Given the description of an element on the screen output the (x, y) to click on. 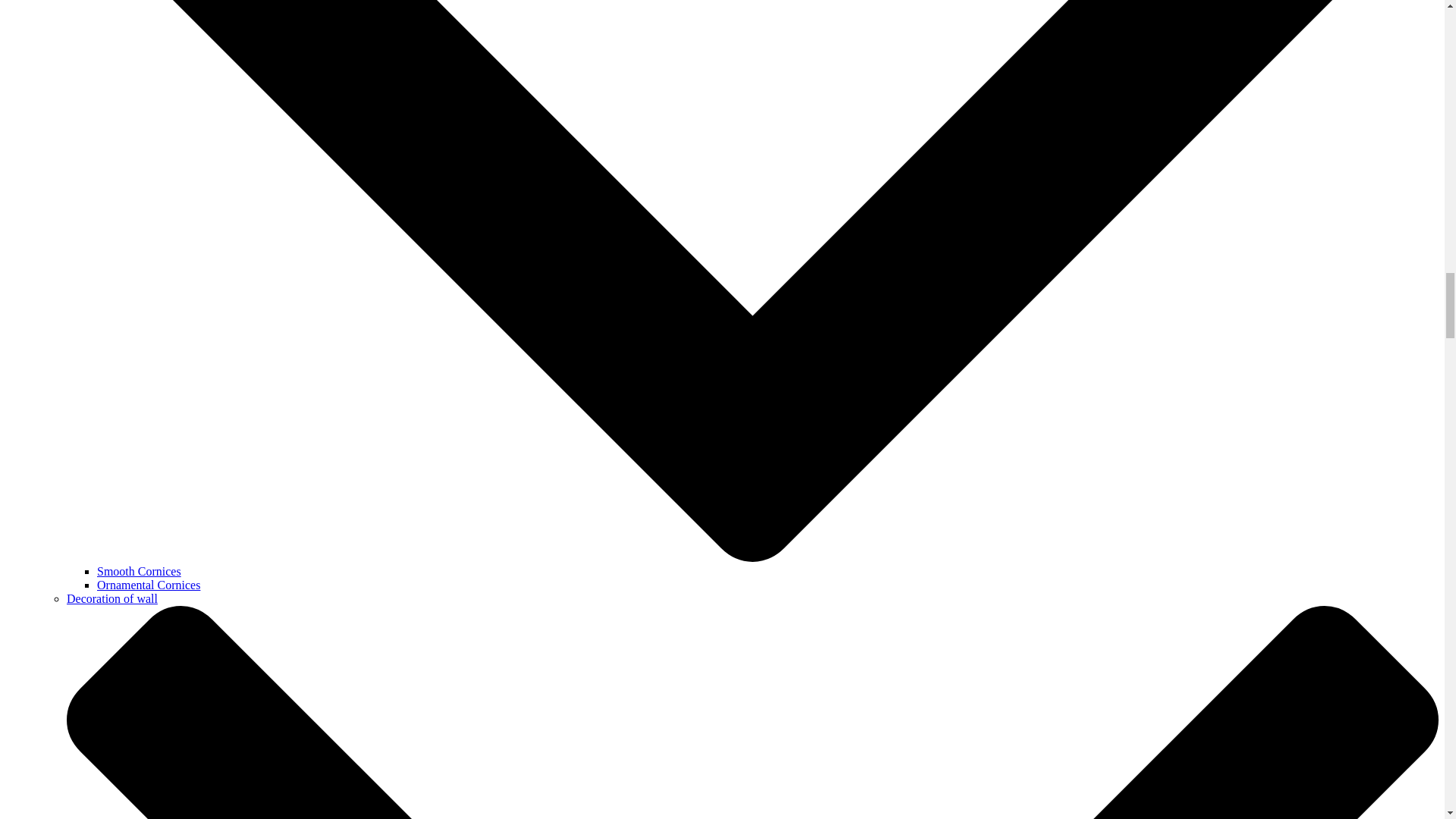
Decoration of wall (111, 598)
Ornamental Cornices (148, 584)
Smooth Cornices (138, 571)
